Given the description of an element on the screen output the (x, y) to click on. 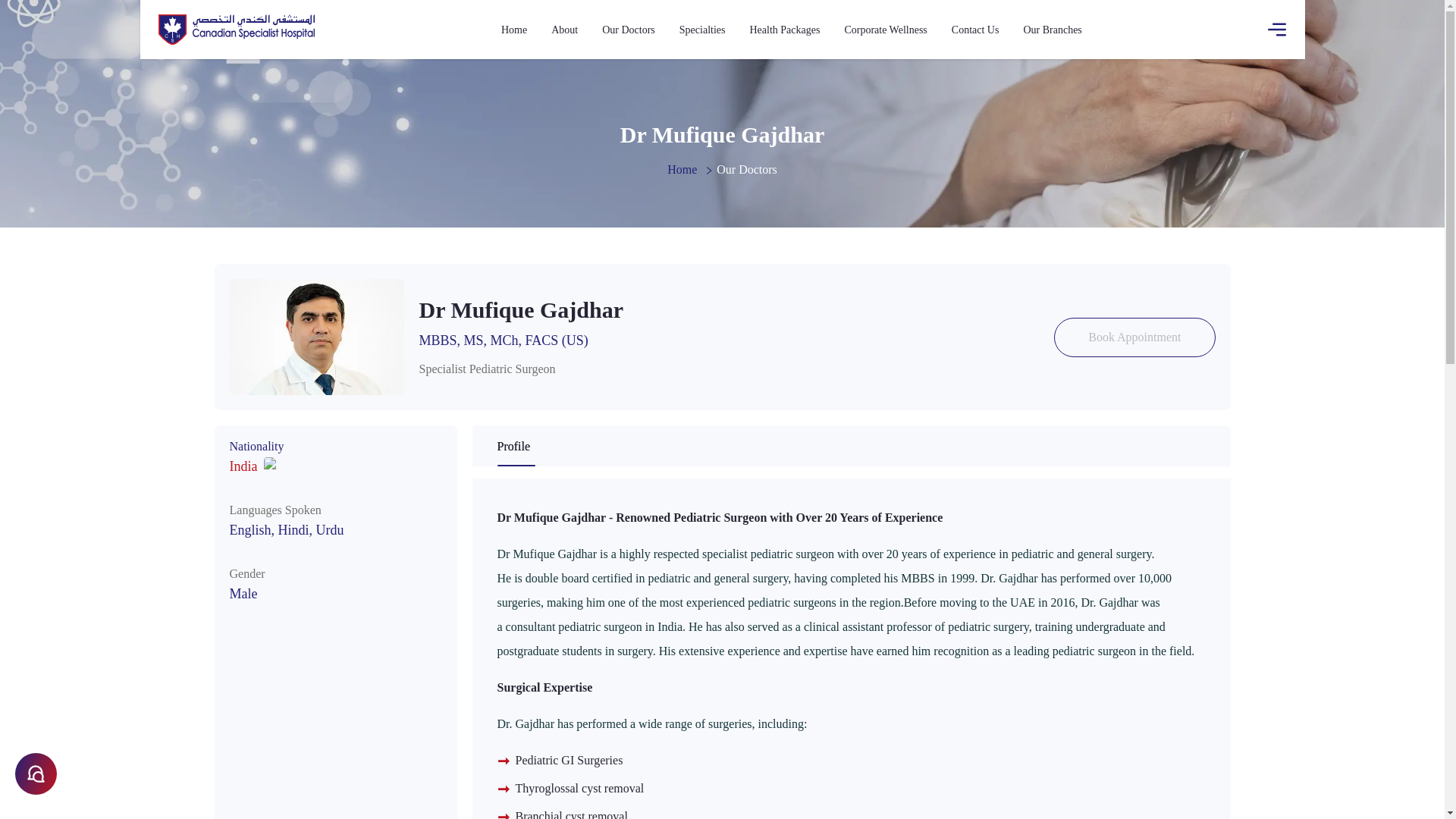
Corporate Wellness (885, 29)
Specialties (702, 29)
Our Doctors (628, 29)
About (564, 29)
Home (513, 29)
Our Branches (1052, 29)
Book Appointment (1134, 337)
Contact Us (975, 29)
Health Packages (784, 29)
Home (689, 169)
